Given the description of an element on the screen output the (x, y) to click on. 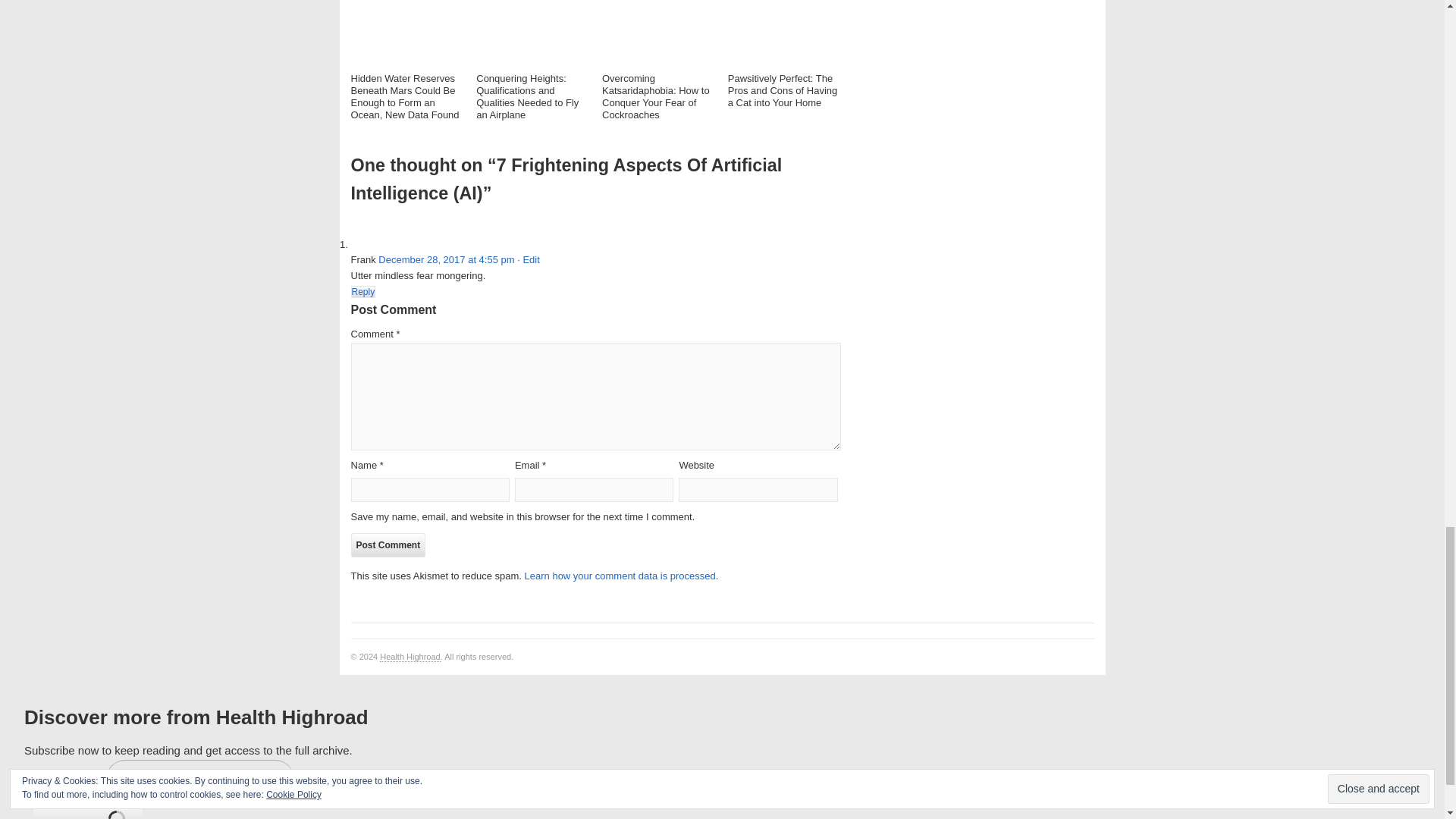
Your Highroad to Health (410, 656)
Please fill in this field. (200, 778)
Edit Comment (528, 259)
Post Comment (387, 545)
